Given the description of an element on the screen output the (x, y) to click on. 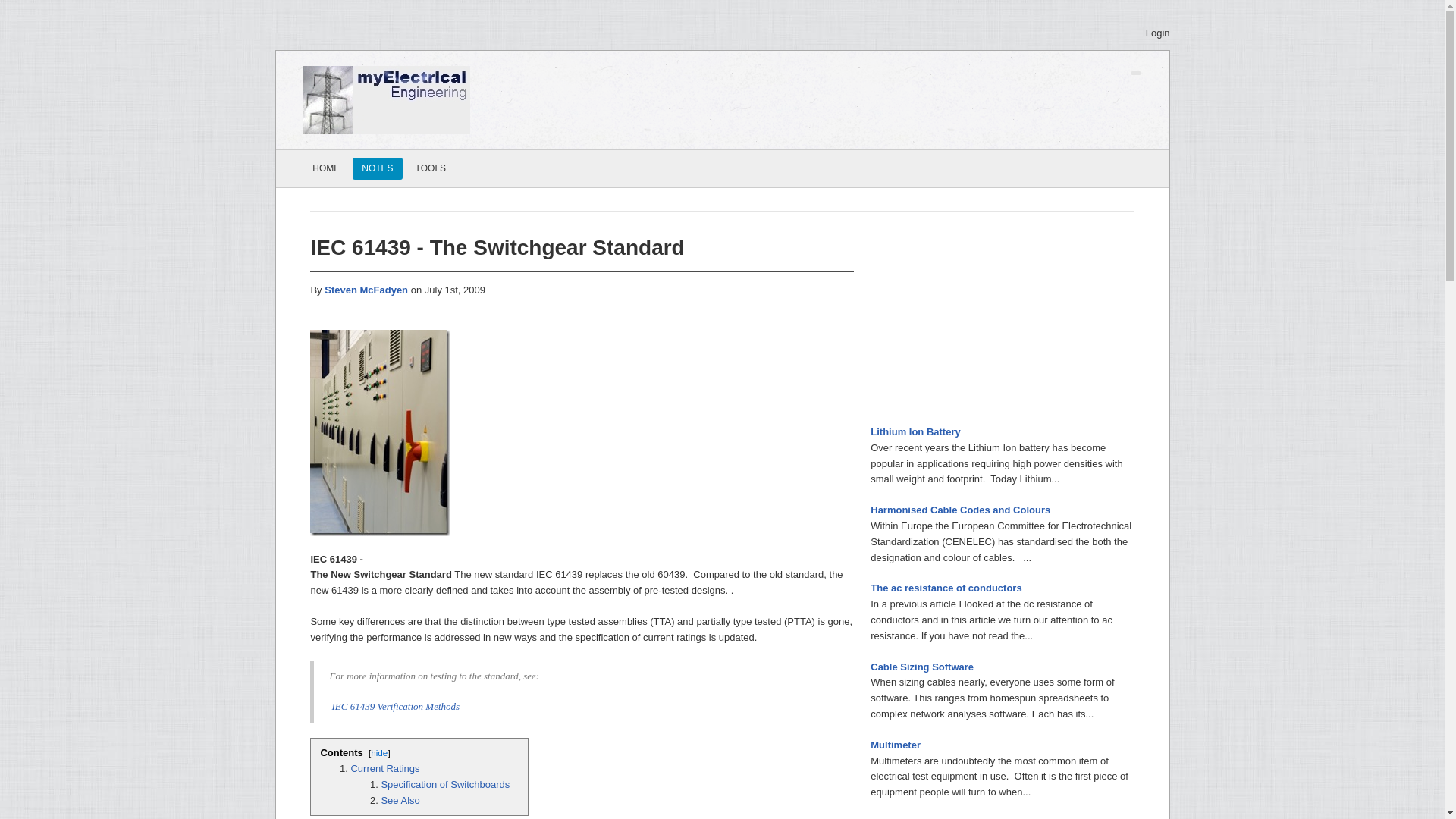
Steven McFadyen (367, 289)
Specification of Switchboards (444, 784)
hide (379, 752)
Login (1155, 32)
HOME (325, 168)
NOTES (376, 168)
TOOLS (430, 168)
Current Ratings (384, 767)
Login (1155, 32)
See Also (399, 799)
IEC 61439 Verification Methods (395, 706)
myElectrical (386, 98)
